Given the description of an element on the screen output the (x, y) to click on. 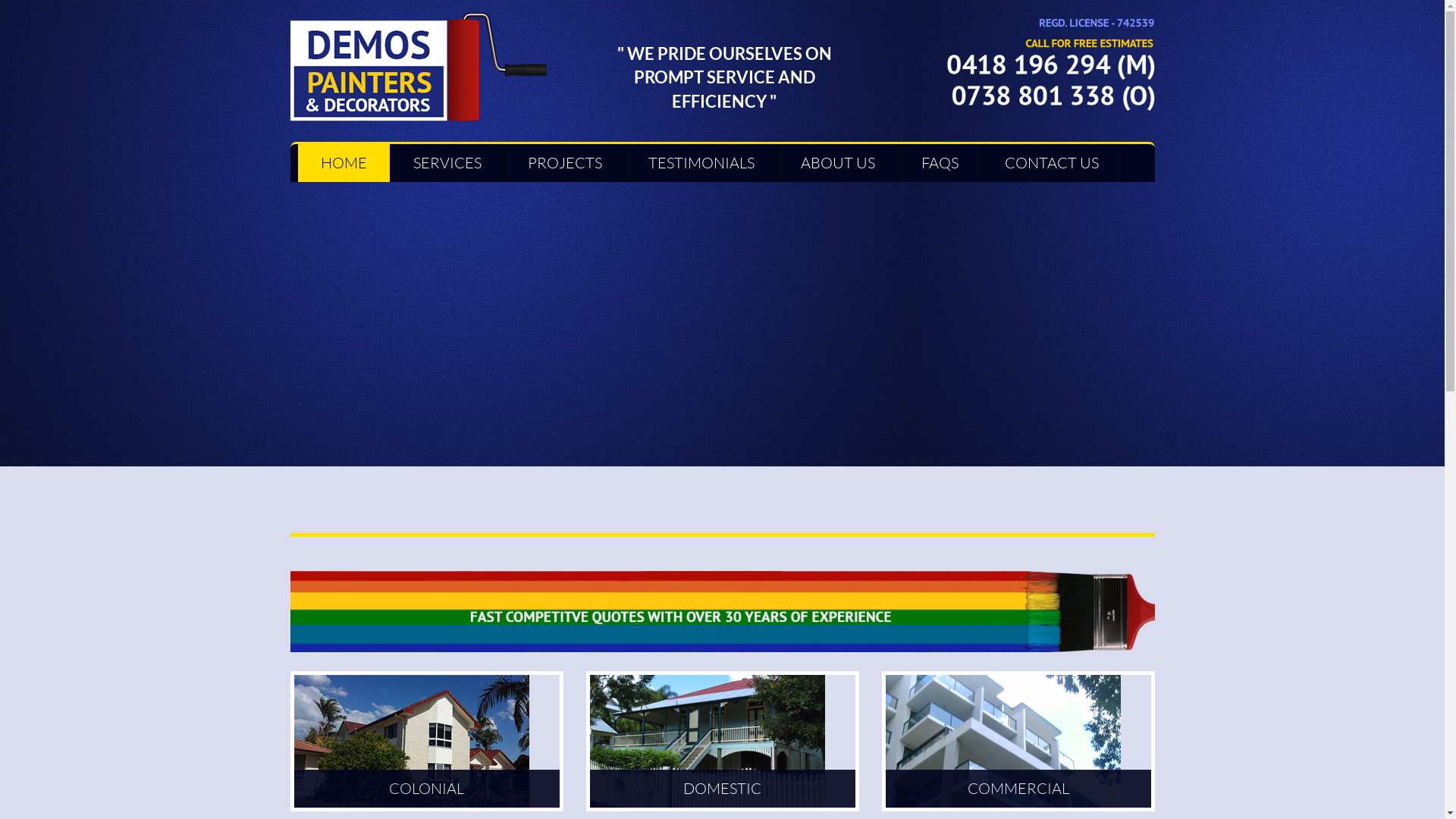
SERVICES Element type: text (446, 163)
CONTACT US Element type: text (1050, 163)
FAQS Element type: text (938, 163)
ABOUT US Element type: text (837, 163)
DOMESTIC Element type: text (721, 741)
HOME Element type: text (343, 163)
COLONIAL Element type: text (425, 741)
TESTIMONIALS Element type: text (700, 163)
COMMERCIAL Element type: text (1017, 741)
PROJECTS Element type: text (564, 163)
